Given the description of an element on the screen output the (x, y) to click on. 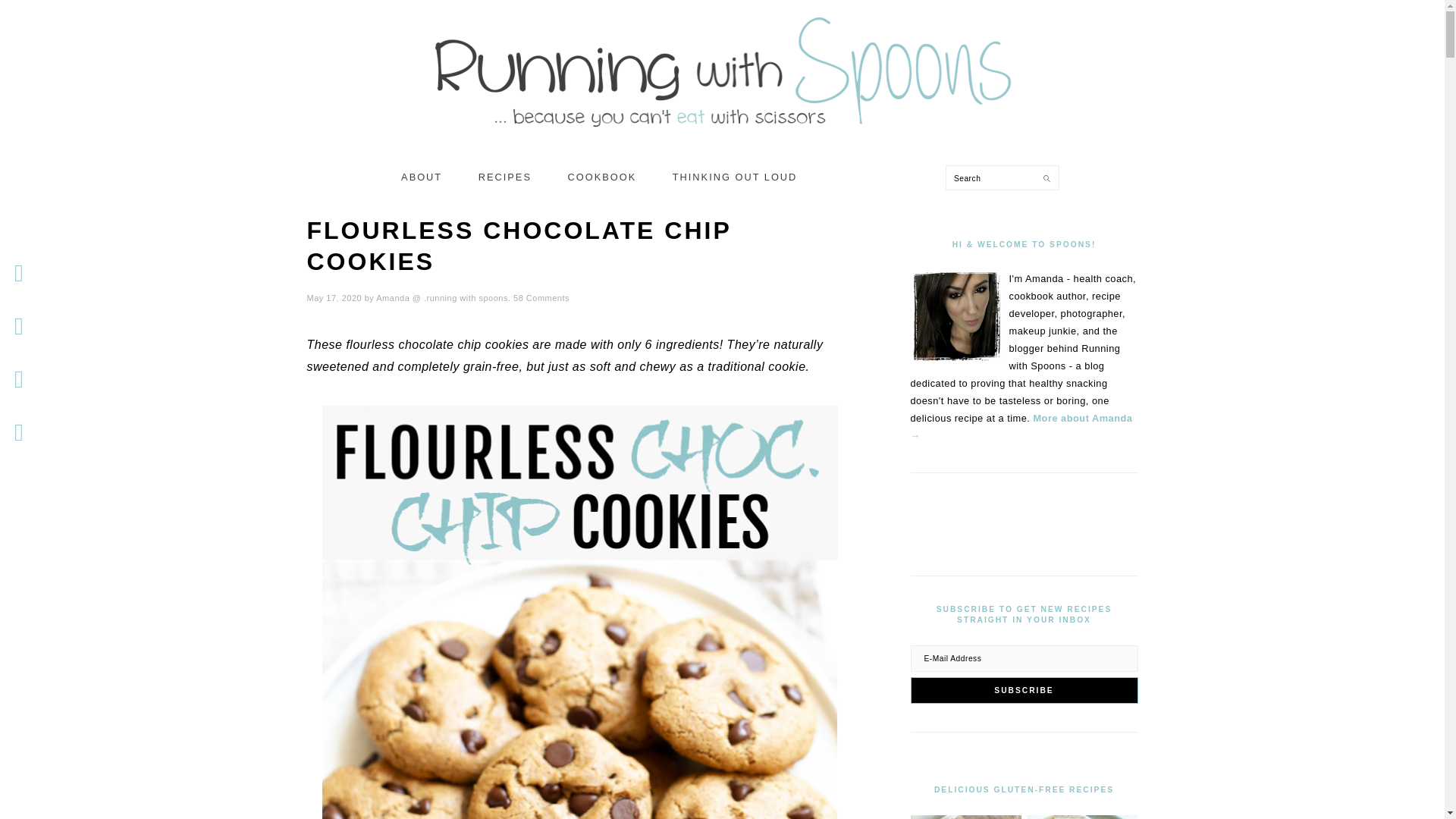
RECIPES (505, 177)
THINKING OUT LOUD (734, 177)
COOKBOOK (601, 177)
. running with spoons . (722, 132)
Subscribe (1023, 690)
ABOUT (421, 177)
. running with spoons . (722, 64)
